Given the description of an element on the screen output the (x, y) to click on. 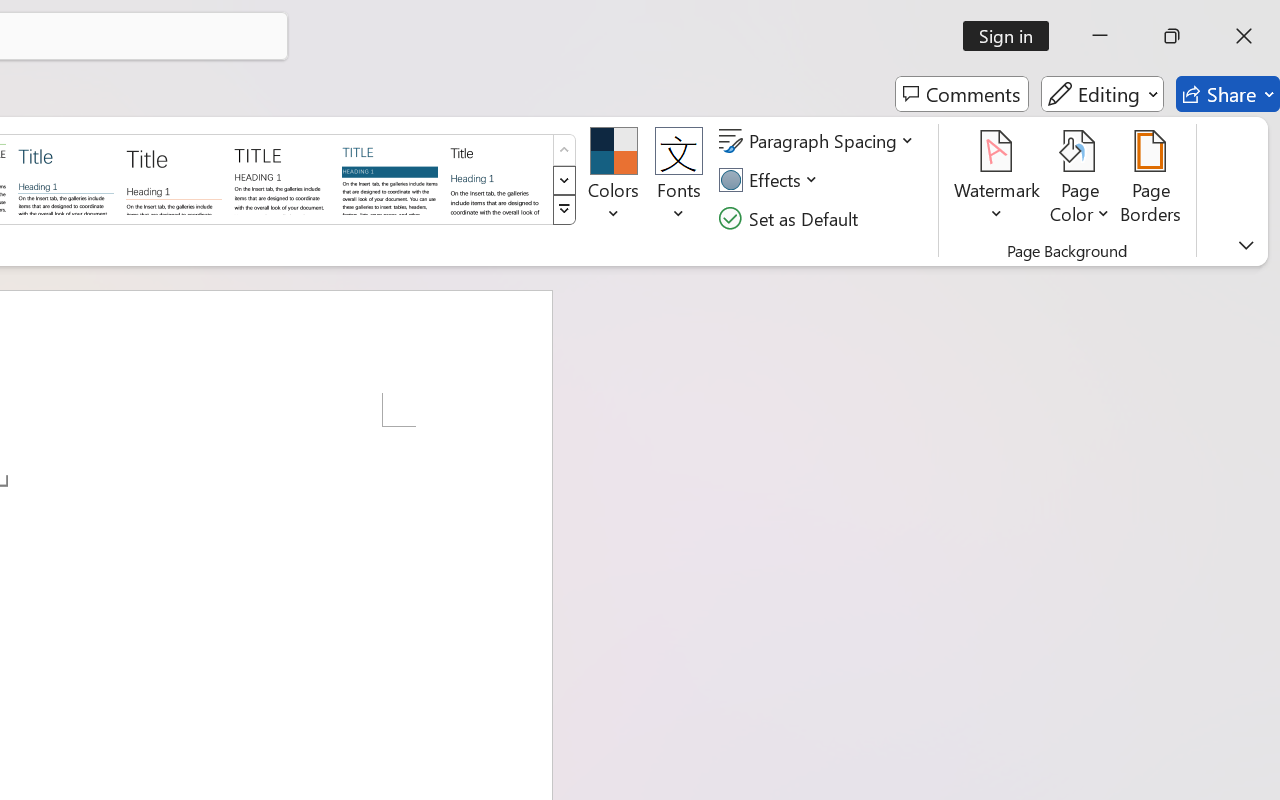
Sign in (1012, 35)
Set as Default (791, 218)
Lines (Stylish) (173, 178)
Page Color (1080, 179)
Page Borders... (1151, 179)
Editing (1101, 94)
Fonts (678, 179)
Shaded (389, 178)
Colors (613, 179)
